Given the description of an element on the screen output the (x, y) to click on. 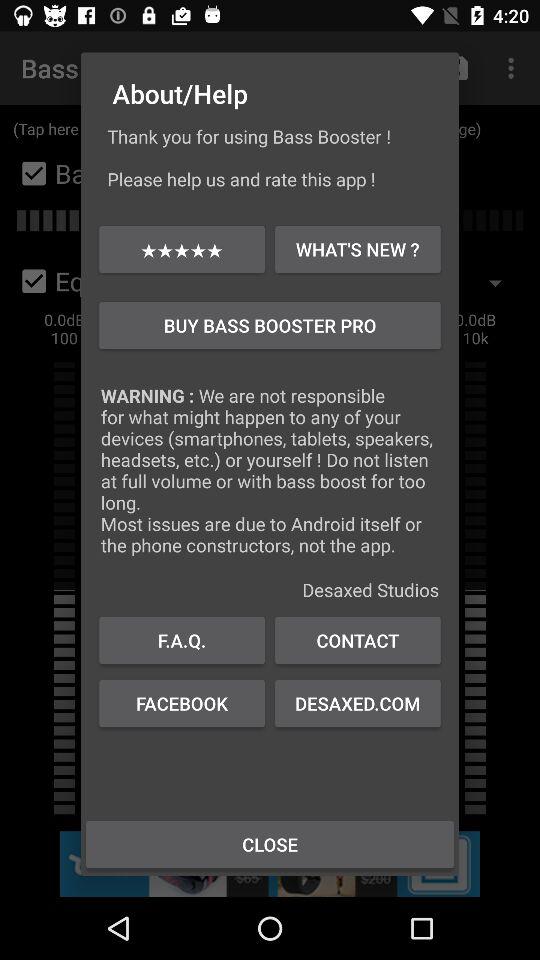
tap the icon to the left of the contact (182, 703)
